Given the description of an element on the screen output the (x, y) to click on. 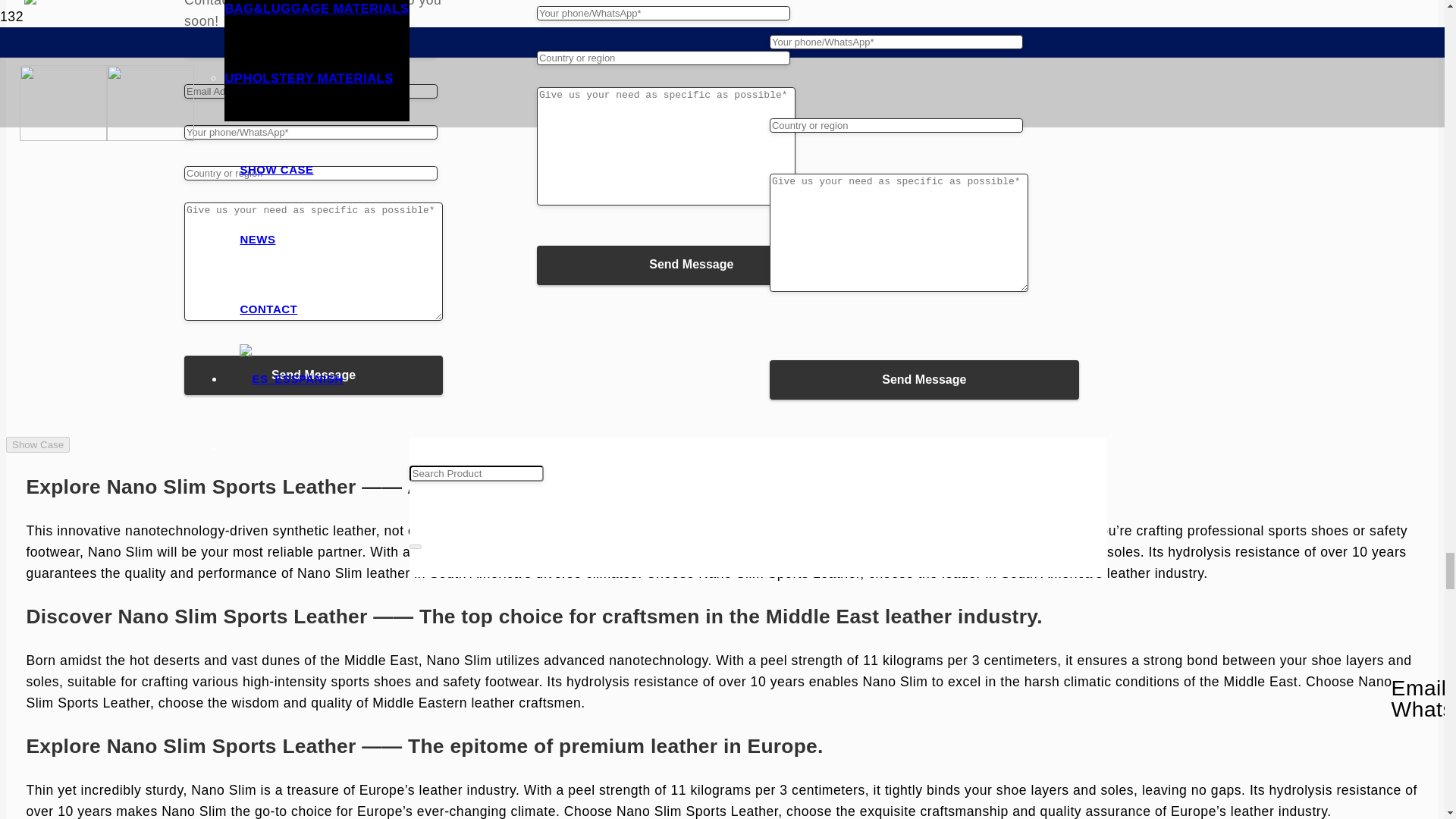
Show Case (37, 444)
Send Message (313, 374)
